Given the description of an element on the screen output the (x, y) to click on. 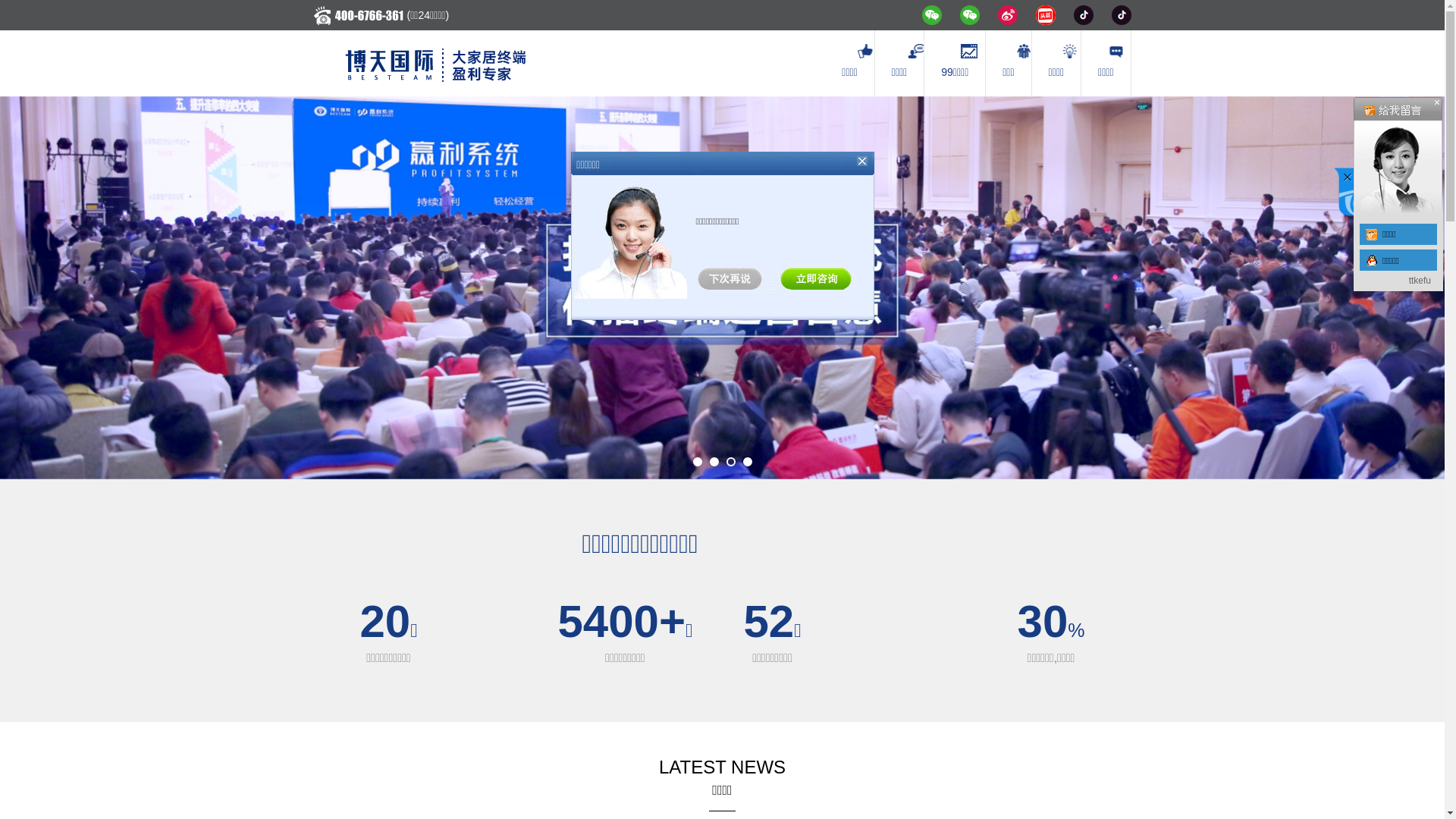
  Element type: text (733, 278)
  Element type: text (815, 278)
  Element type: text (1398, 155)
ttkefu Element type: text (1419, 280)
